Given the description of an element on the screen output the (x, y) to click on. 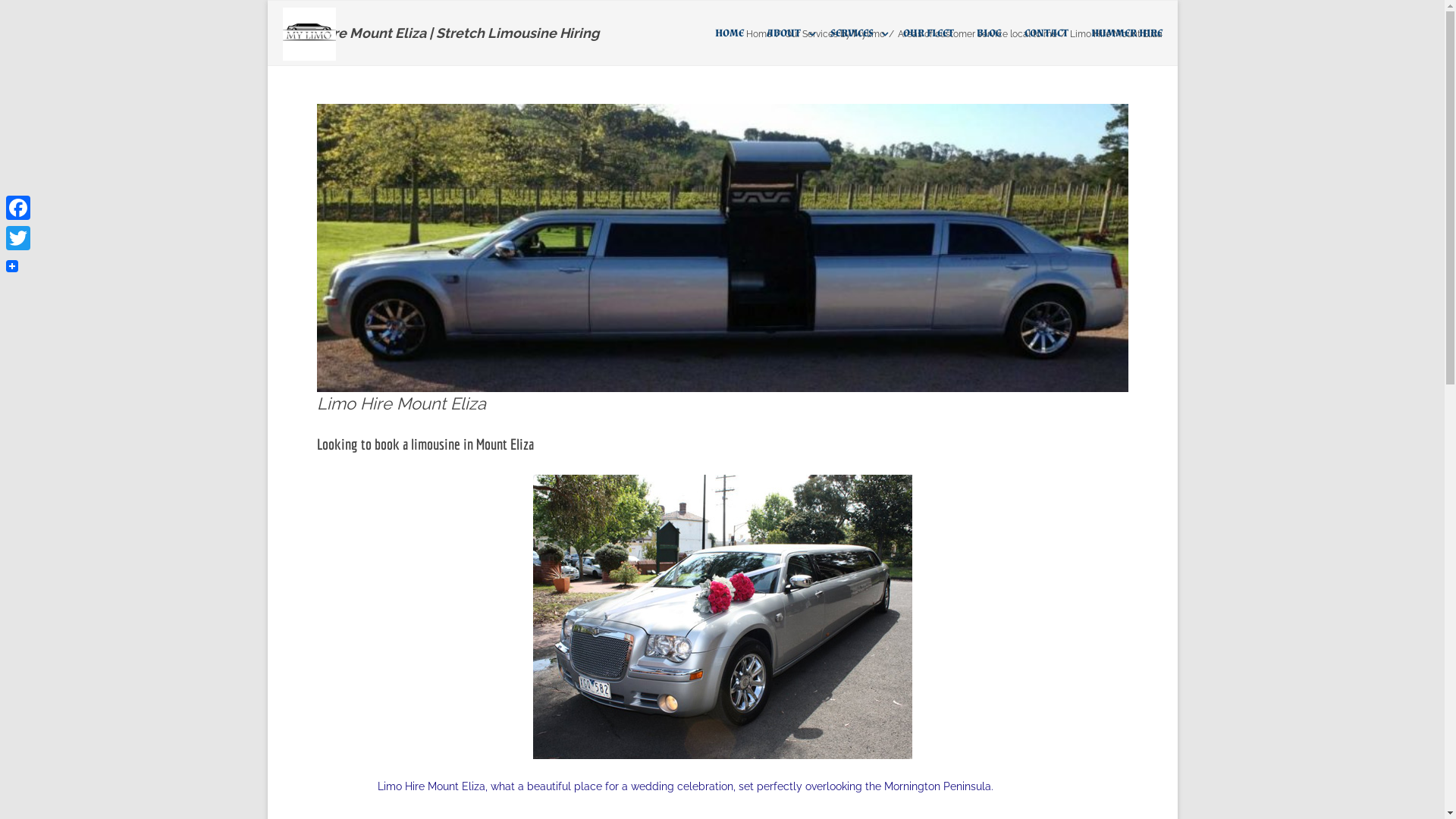
OUR FLEET Element type: text (927, 33)
HUMMER HIRE Element type: text (1125, 33)
Our Services by Mylimo Element type: text (834, 33)
SERVICES Element type: text (854, 33)
Twitter Element type: text (18, 237)
CONTACT Element type: text (1045, 33)
ABOUT Element type: text (785, 33)
Facebook Element type: text (18, 207)
HOME Element type: text (728, 33)
Areas of customer service local to me Element type: text (977, 33)
My Limo Element type: hover (312, 34)
Home Element type: text (758, 33)
BLOG Element type: text (988, 33)
